Given the description of an element on the screen output the (x, y) to click on. 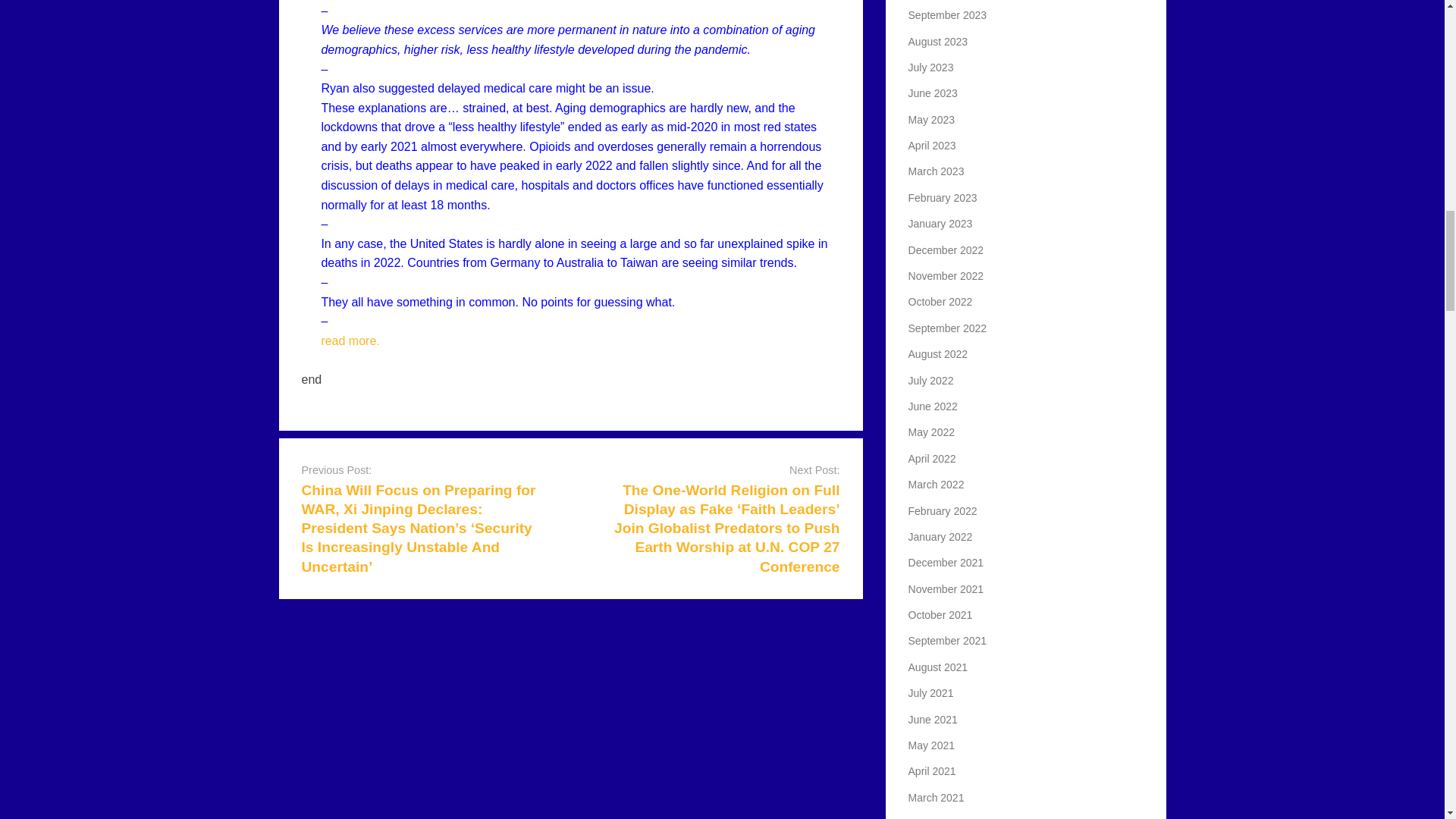
read more. (349, 340)
